Given the description of an element on the screen output the (x, y) to click on. 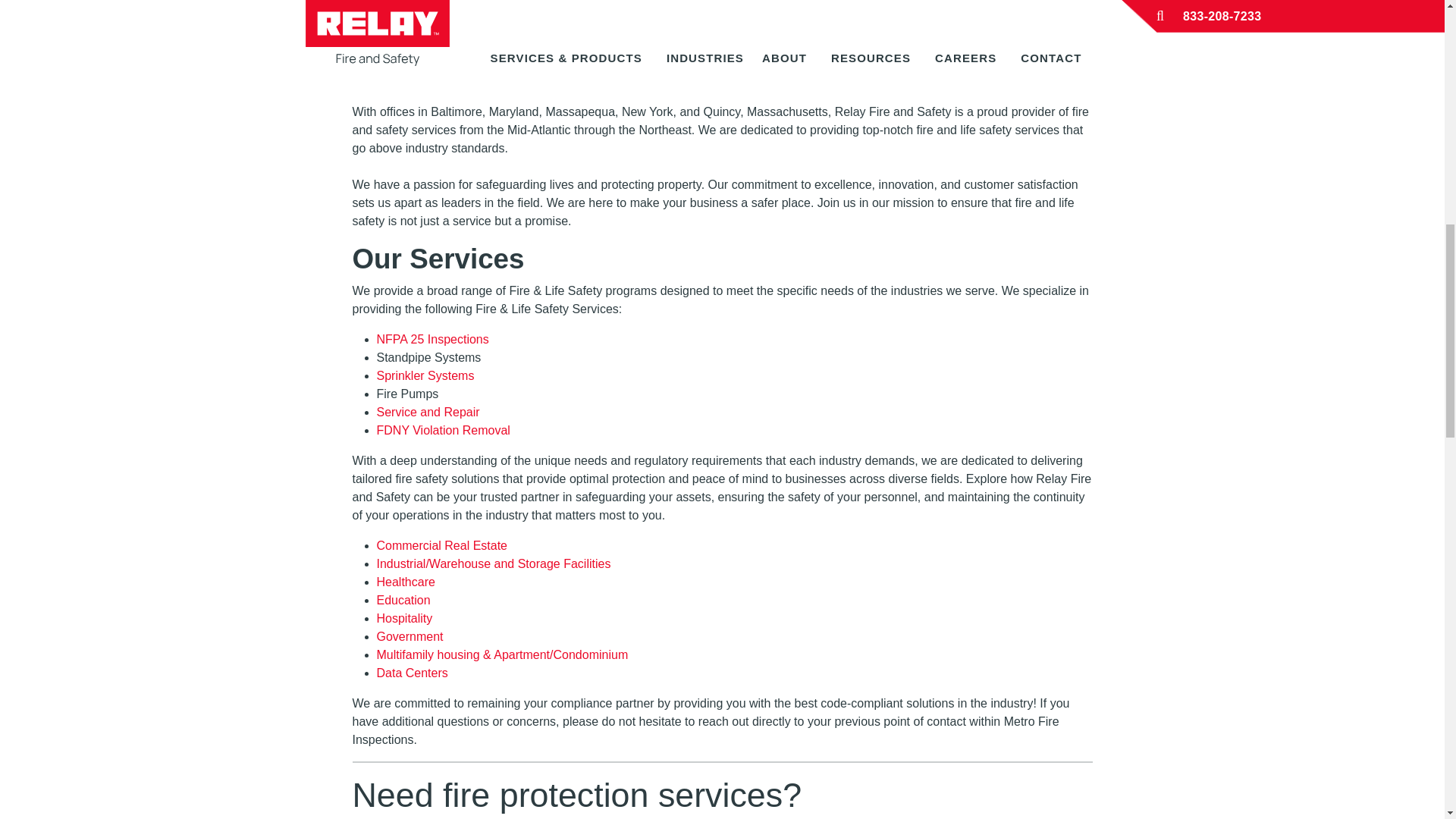
Sprinkler Systems (424, 375)
Education (402, 599)
NFPA 25 Inspections (431, 338)
Service and Repair (427, 411)
Healthcare (404, 581)
Commercial Real Estate (440, 545)
FDNY Violation Removal (442, 430)
Government (408, 635)
Hospitality (403, 617)
